Given the description of an element on the screen output the (x, y) to click on. 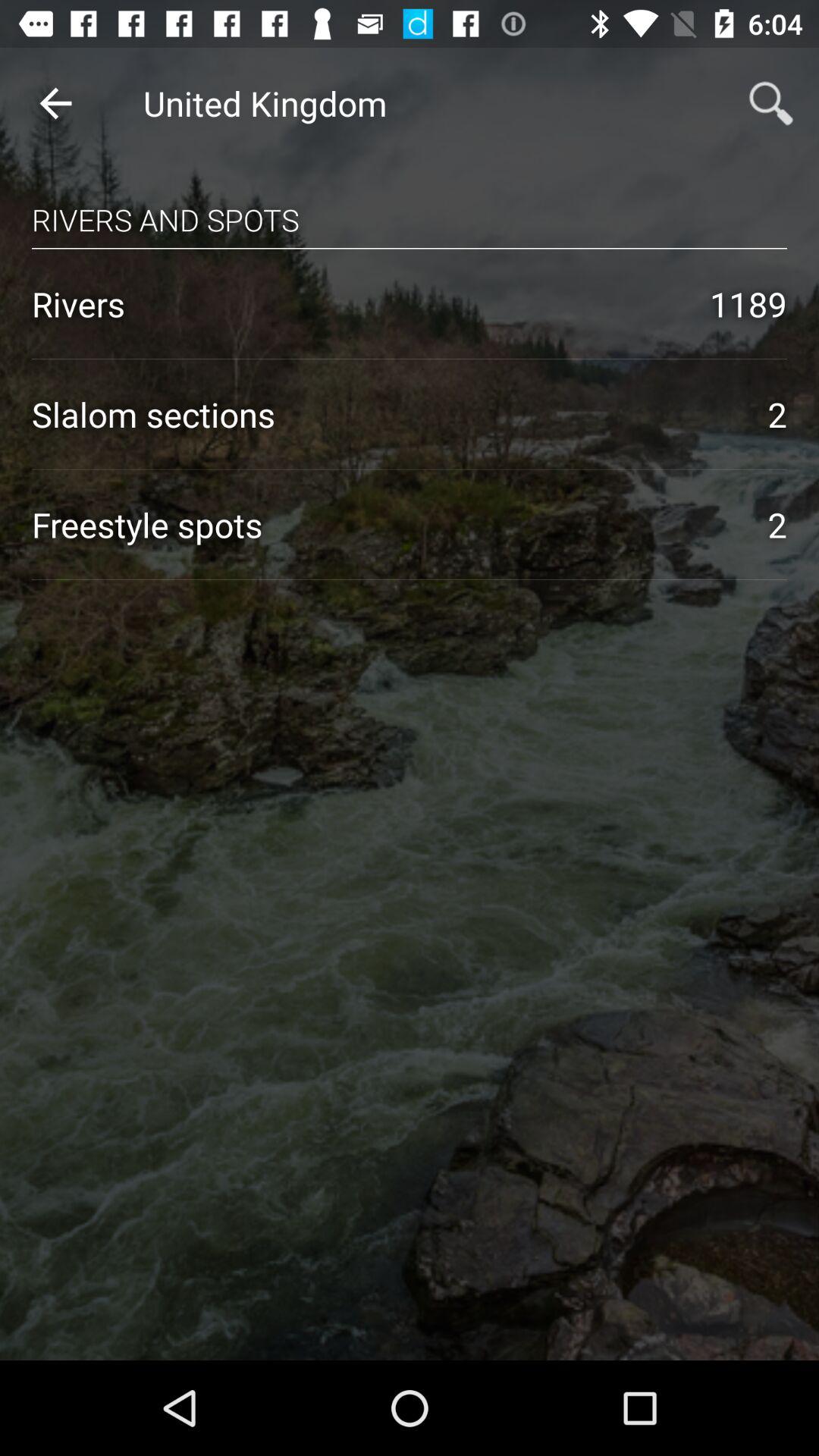
select icon to the right of rivers icon (748, 303)
